Given the description of an element on the screen output the (x, y) to click on. 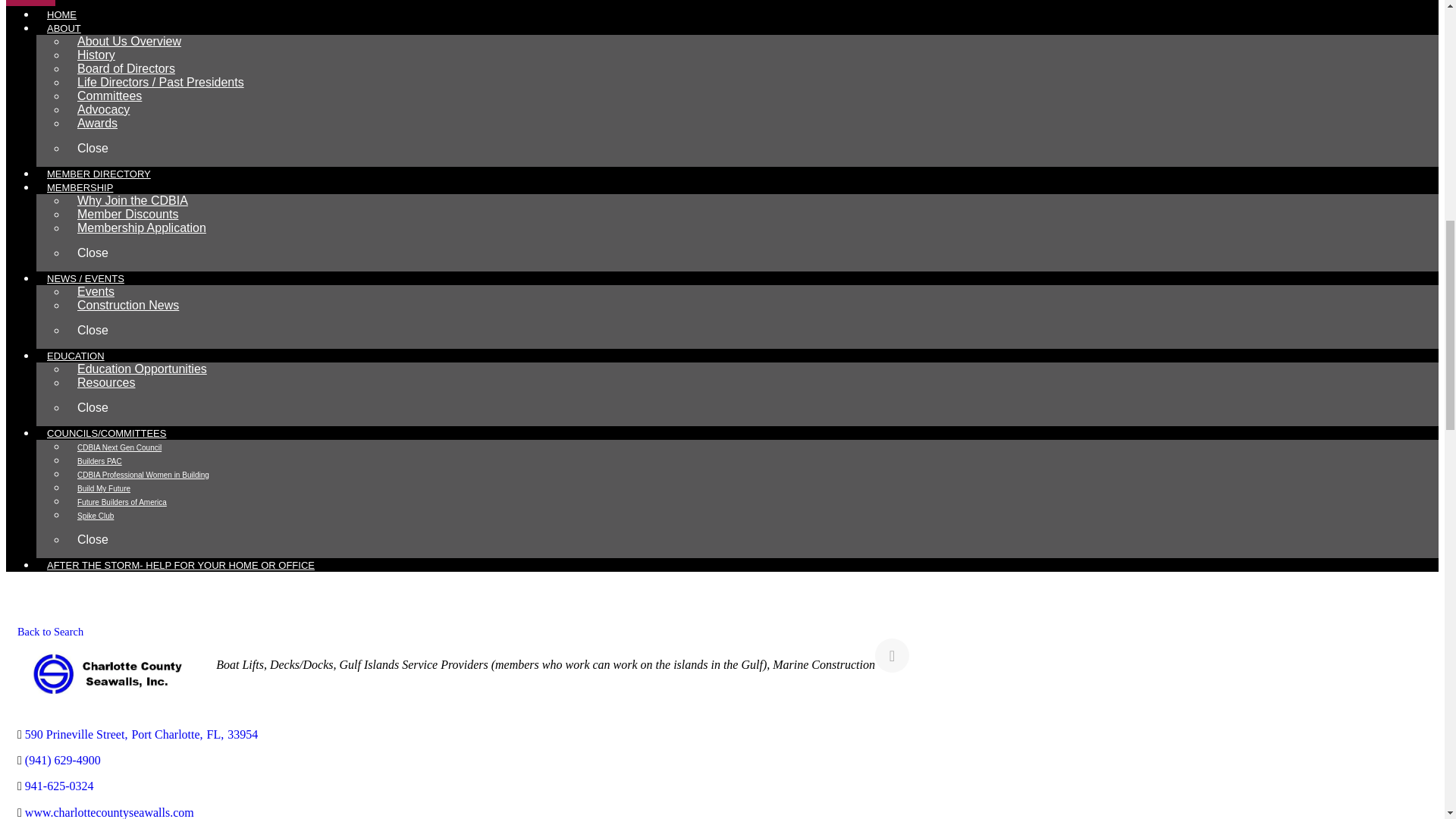
Menu (30, 2)
ABOUT (63, 28)
HOME (61, 15)
